Given the description of an element on the screen output the (x, y) to click on. 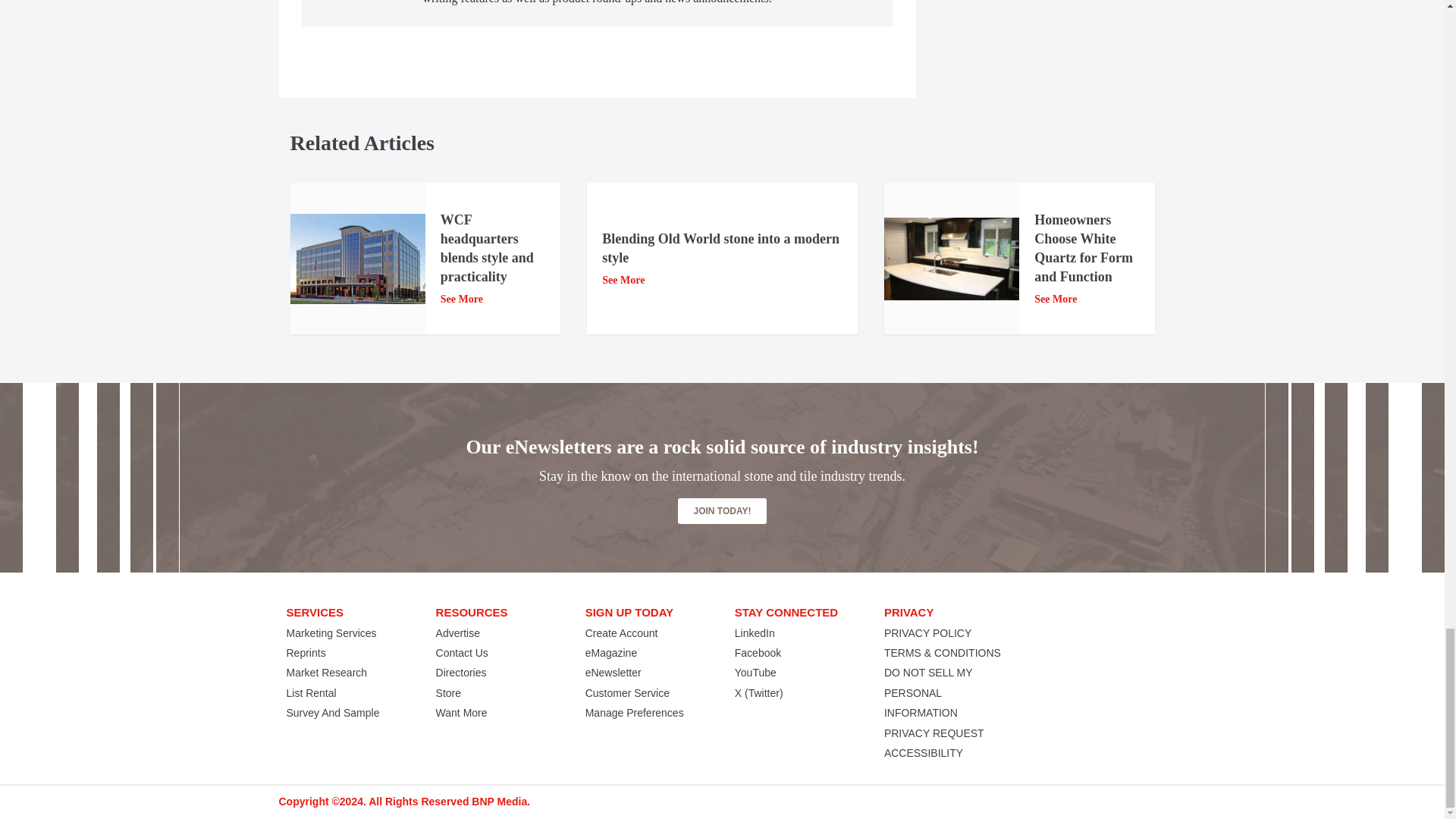
Vicostone Statuario quartz surfacing (951, 258)
